Given the description of an element on the screen output the (x, y) to click on. 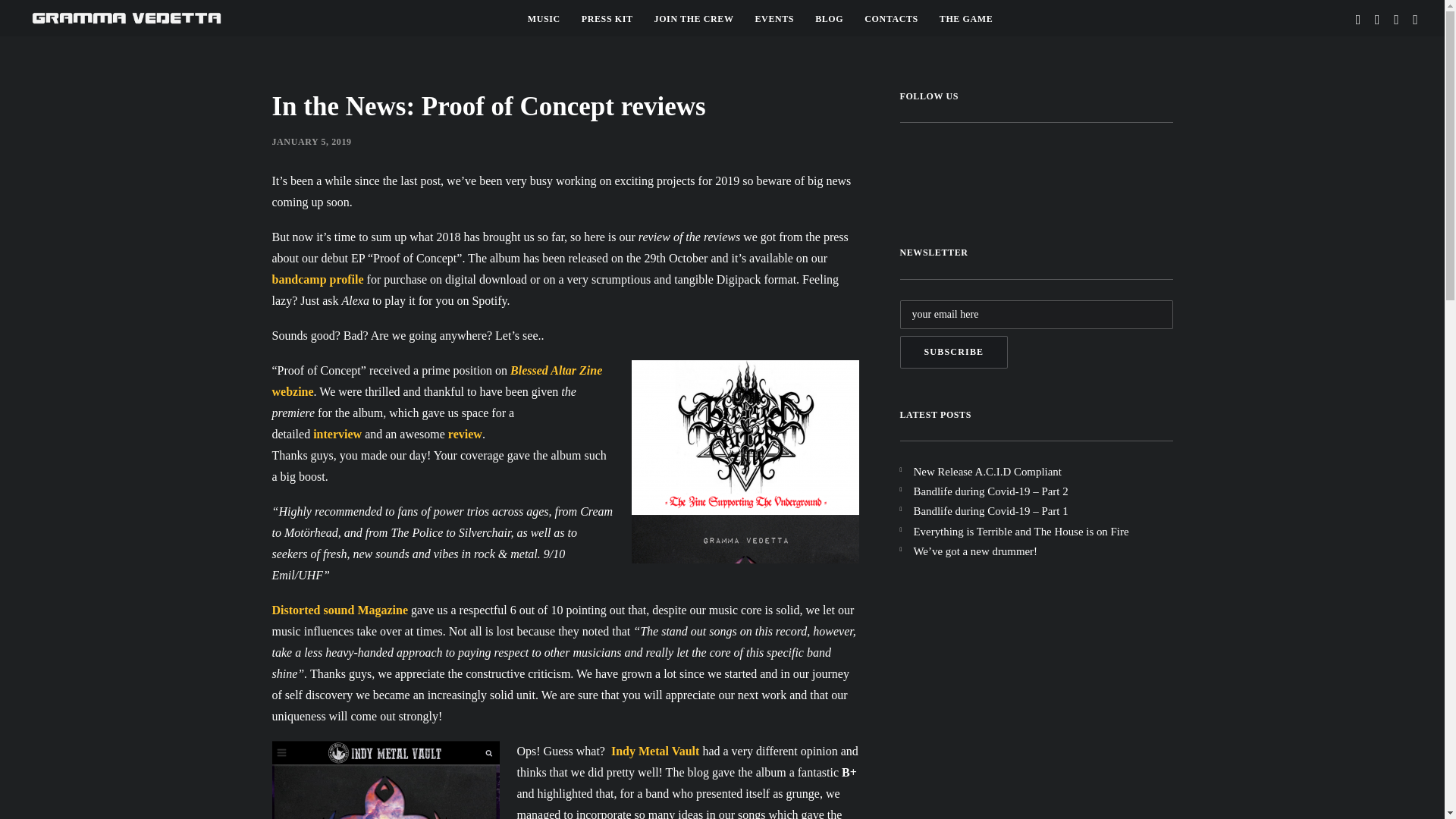
The Game (965, 18)
bandcamp profile (316, 278)
review (464, 433)
THE GAME (965, 18)
Everything is Terrible and The House is on Fire (1042, 531)
JOIN THE CREW (693, 18)
CONTACTS (890, 18)
PRESS KIT (606, 18)
Blessed Altar Zine webzine (436, 380)
Join the crew (693, 18)
